Given the description of an element on the screen output the (x, y) to click on. 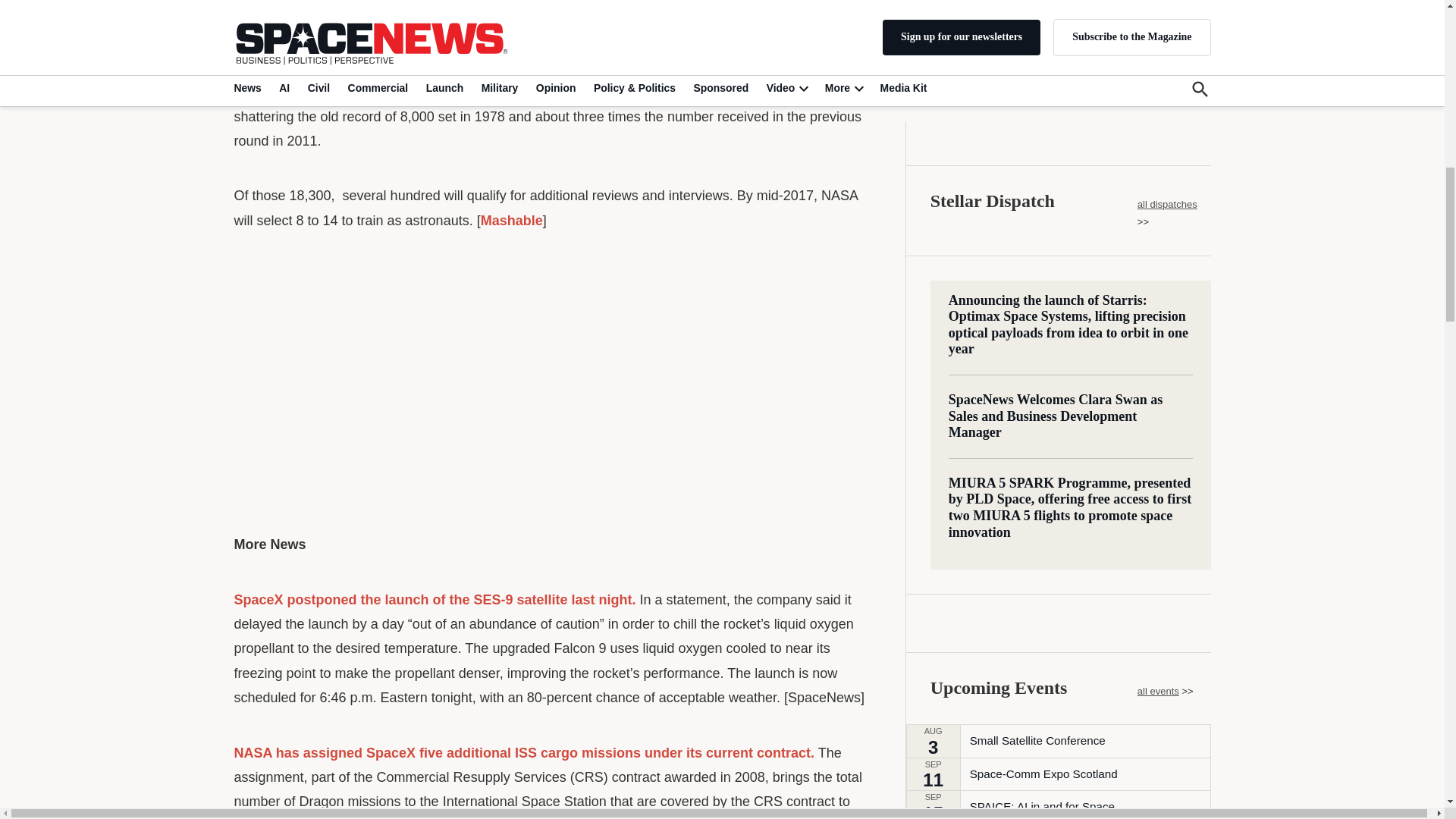
Small Satellite Conference (1037, 123)
